Given the description of an element on the screen output the (x, y) to click on. 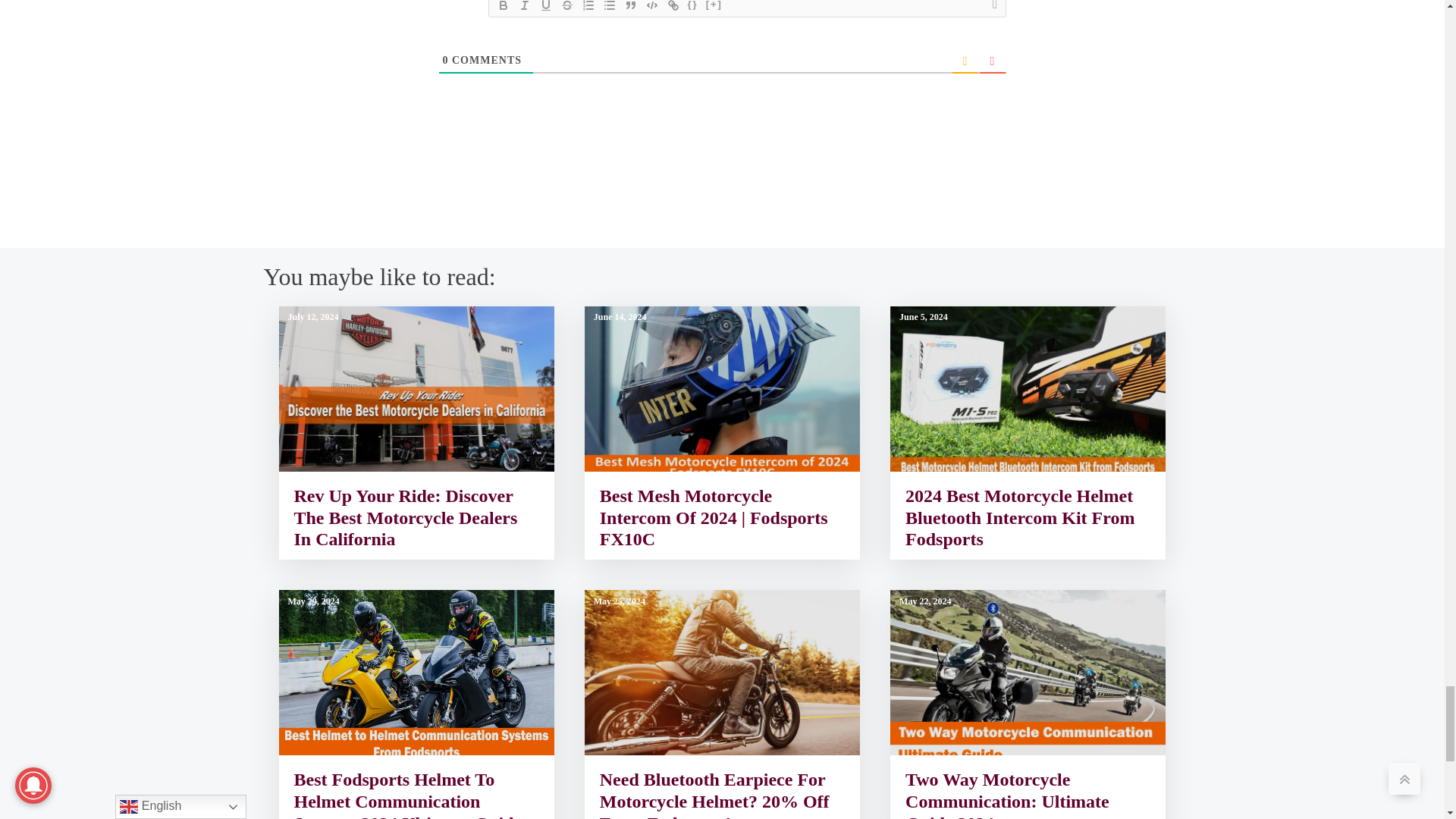
Code Block (652, 7)
Bold (503, 7)
Blockquote (631, 7)
Unordered List (609, 7)
Ordered List (588, 7)
Italic (524, 7)
Link (673, 7)
Strike (567, 7)
Underline (545, 7)
